Given the description of an element on the screen output the (x, y) to click on. 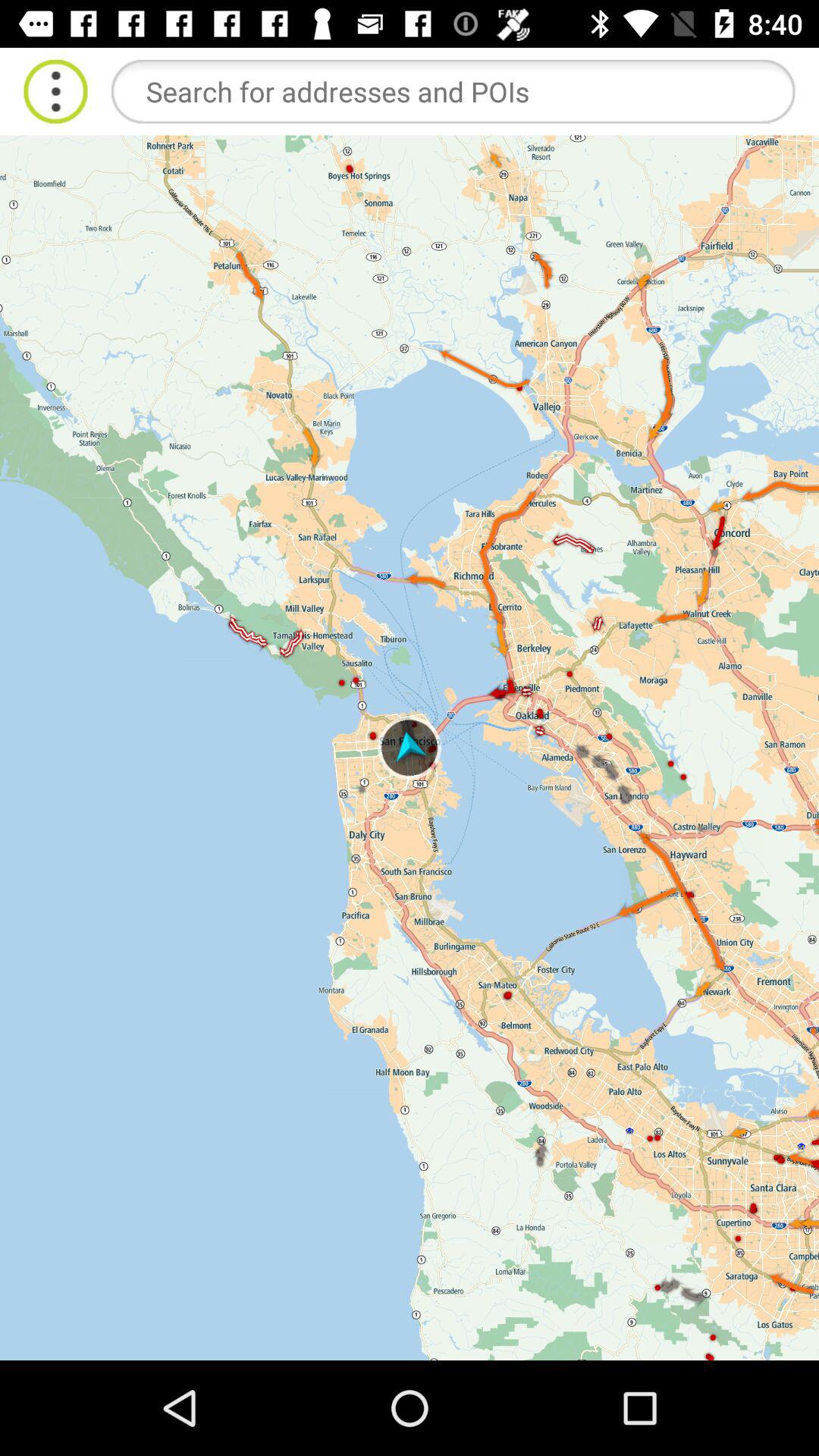
toggle menu (55, 91)
